Given the description of an element on the screen output the (x, y) to click on. 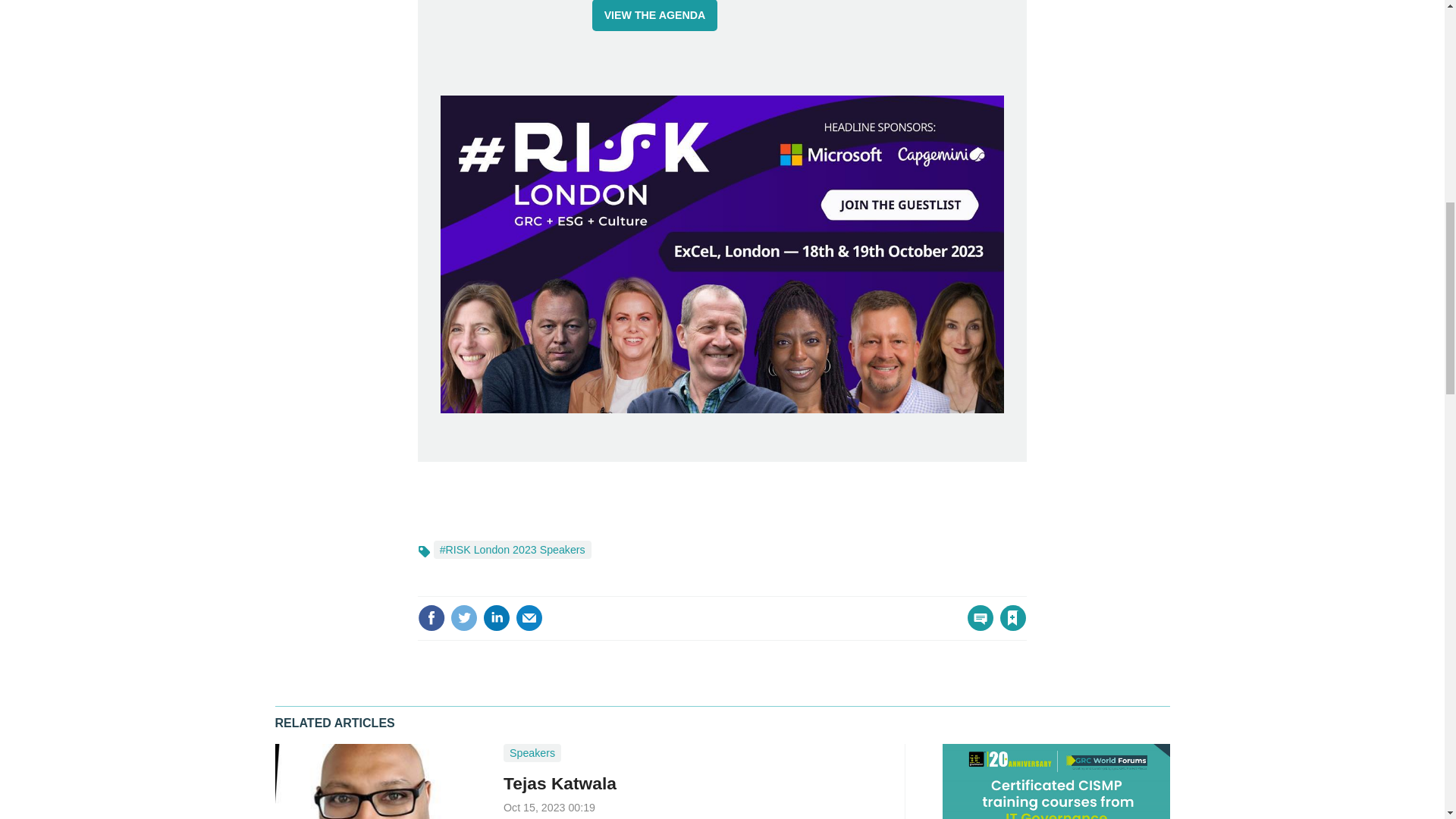
Share this on Facebook (431, 617)
Email this article (529, 617)
Share this on Twitter (463, 617)
No comments (976, 626)
Share this on Linked in (497, 617)
